Given the description of an element on the screen output the (x, y) to click on. 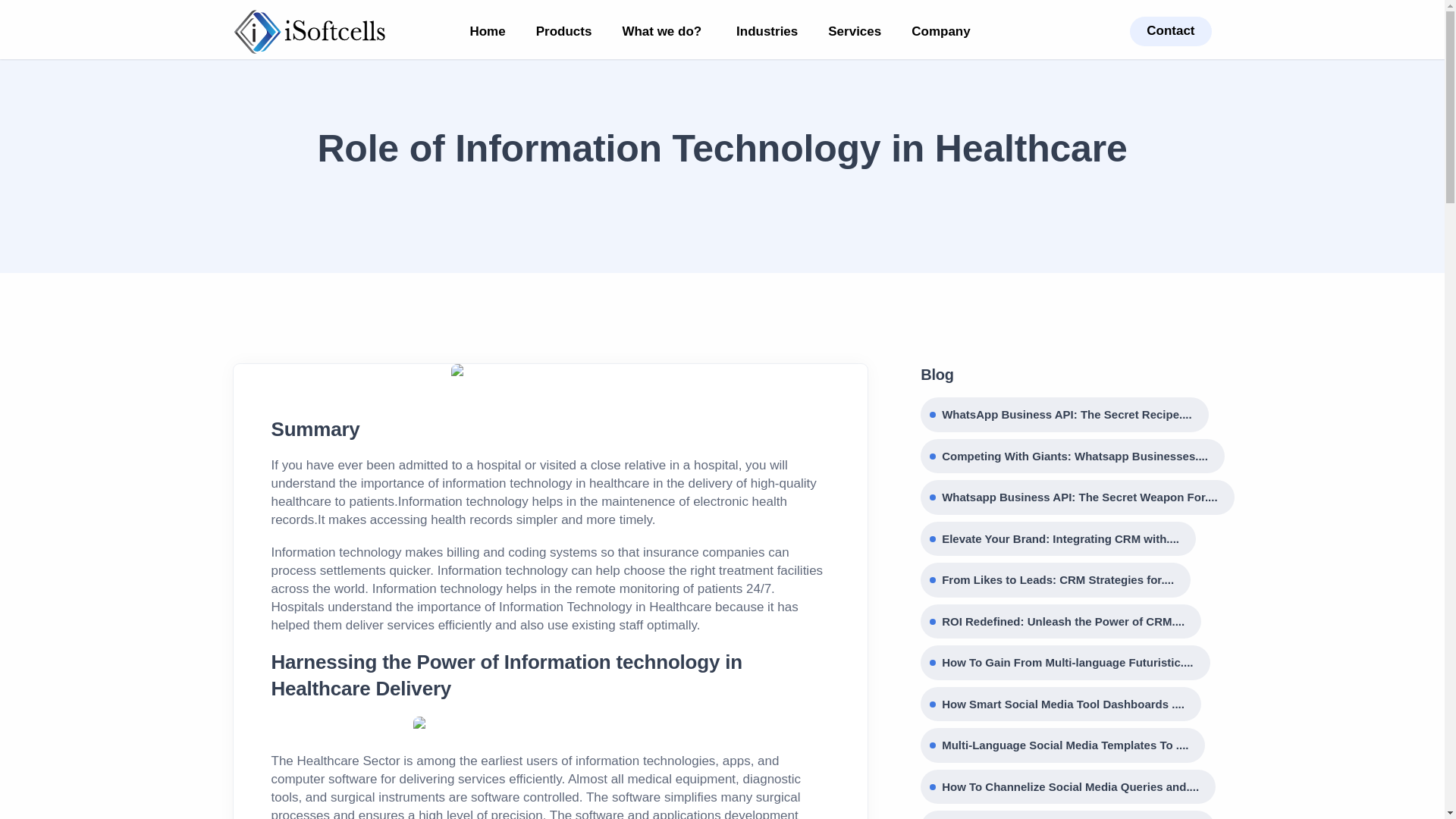
What we do? (663, 31)
Home (486, 31)
Products (564, 31)
Company (943, 31)
Industries (766, 31)
Services (854, 31)
